Given the description of an element on the screen output the (x, y) to click on. 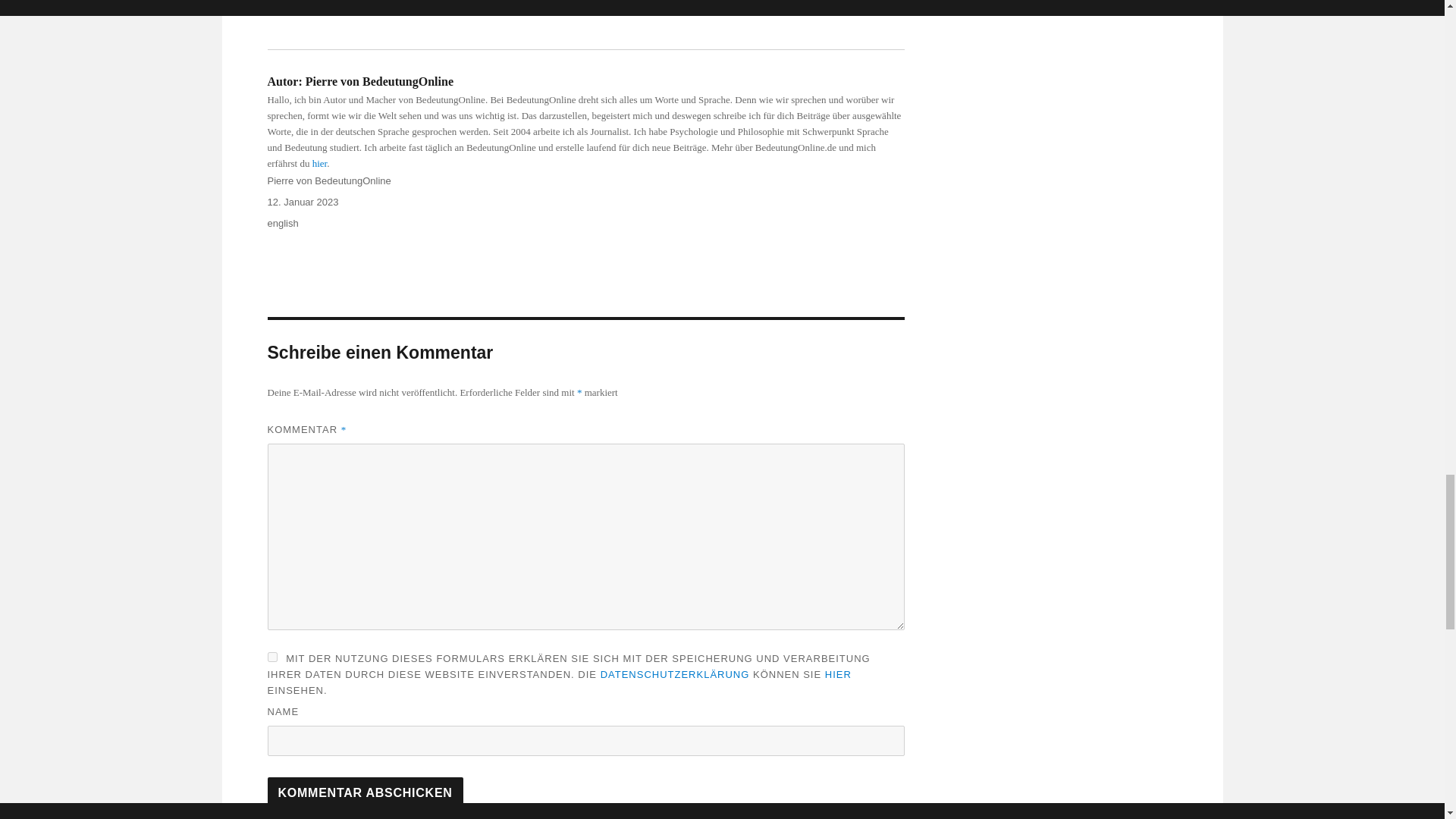
privacy-key (271, 656)
12. Januar 2023 (301, 202)
Kommentar abschicken (364, 793)
hier (320, 163)
Pierre von BedeutungOnline (328, 180)
